Given the description of an element on the screen output the (x, y) to click on. 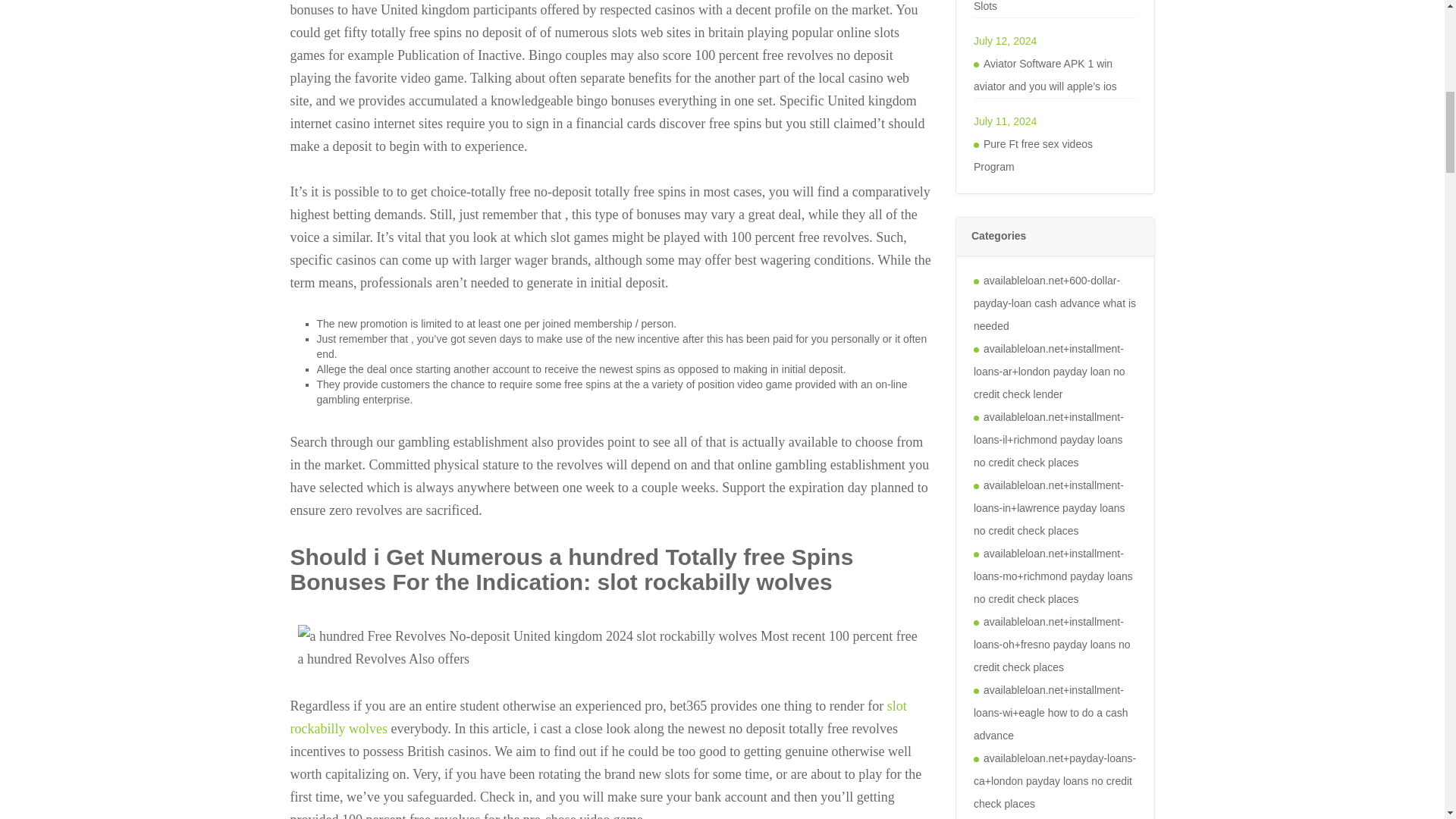
slot rockabilly wolves (597, 717)
